Given the description of an element on the screen output the (x, y) to click on. 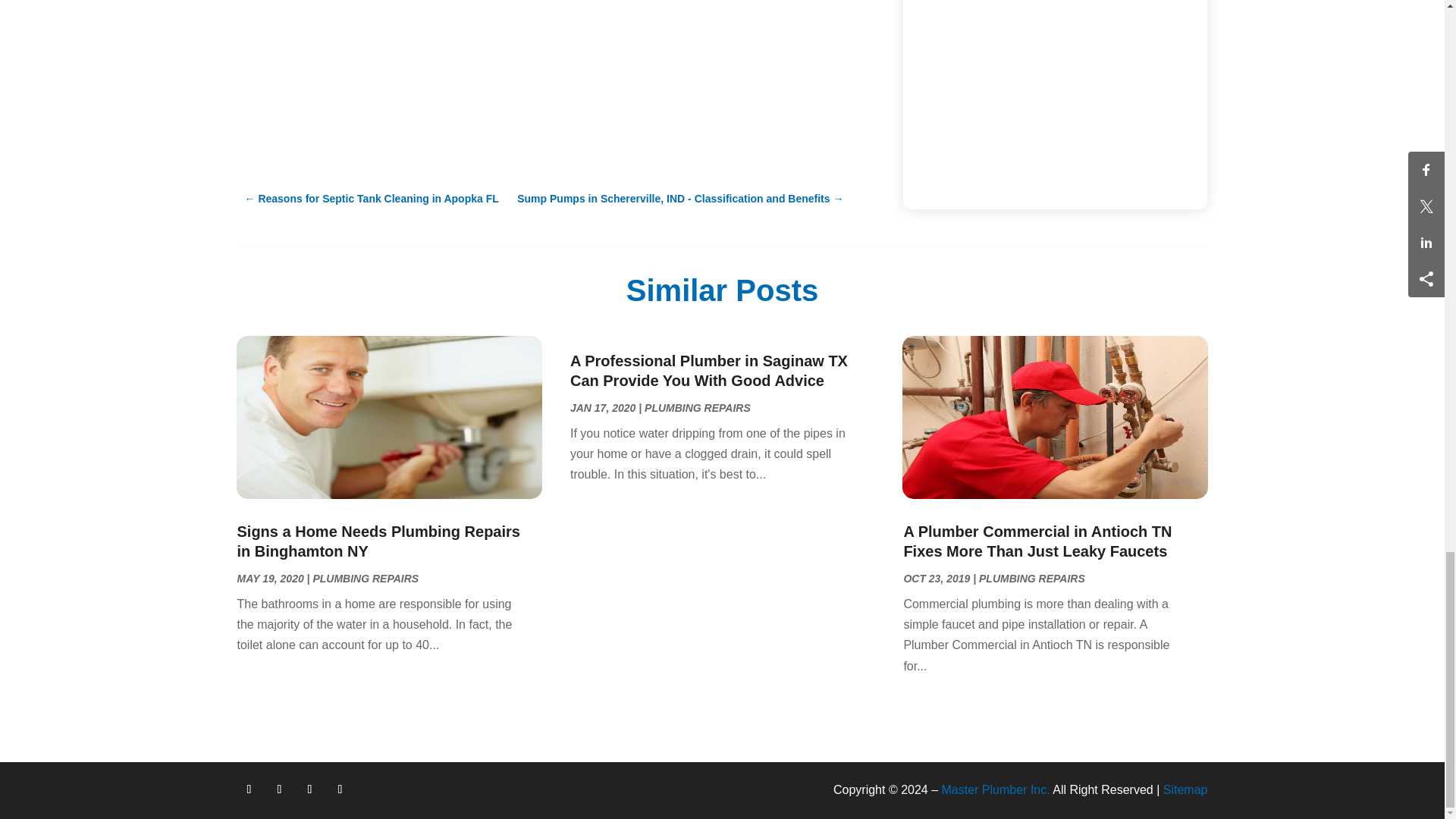
Follow on Youtube (339, 789)
Follow on Facebook (247, 789)
Follow on X (278, 789)
Follow on Instagram (309, 789)
